Given the description of an element on the screen output the (x, y) to click on. 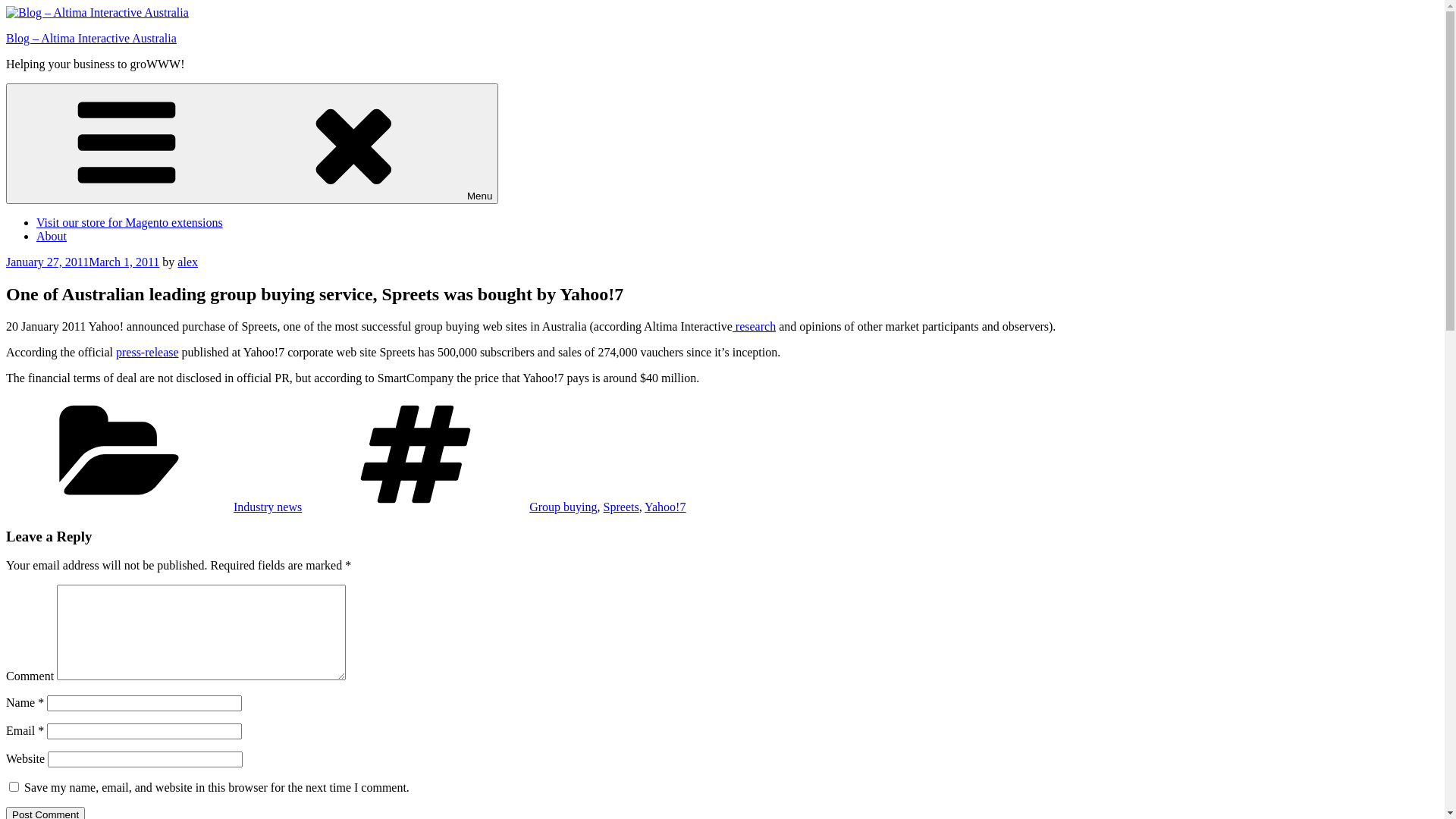
Spreets Element type: text (621, 506)
Industry news Element type: text (267, 506)
Visit our store for Magento extensions Element type: text (129, 222)
alex Element type: text (187, 261)
press-release Element type: text (147, 351)
Group buying Element type: text (562, 506)
Skip to content Element type: text (5, 5)
About Element type: text (51, 235)
January 27, 2011March 1, 2011 Element type: text (82, 261)
Yahoo!7 Element type: text (664, 506)
research Element type: text (753, 326)
Menu Element type: text (252, 143)
